Given the description of an element on the screen output the (x, y) to click on. 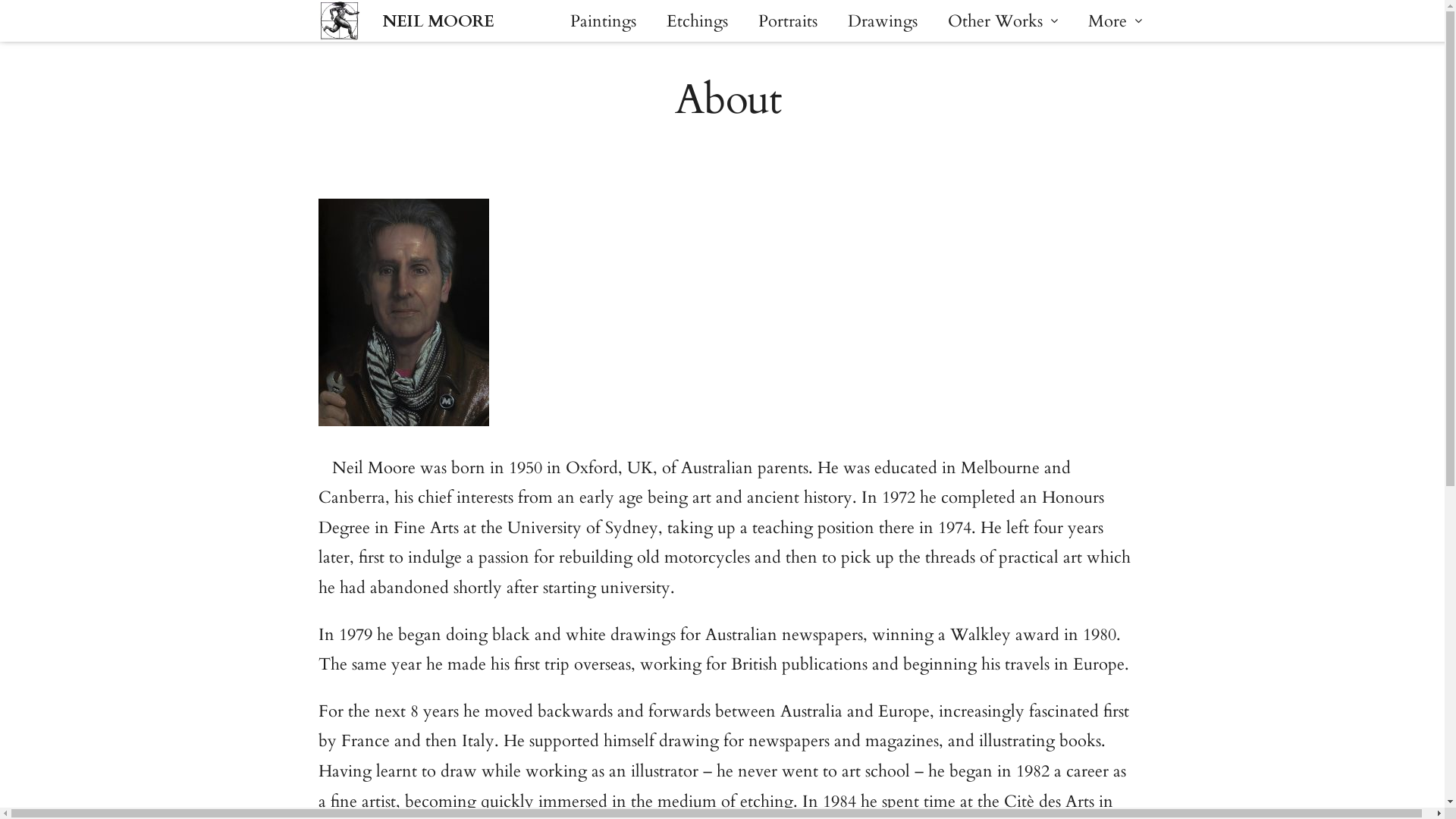
Paintings Element type: text (603, 20)
NEIL MOORE Element type: text (438, 20)
Portraits Element type: text (787, 20)
Etchings Element type: text (697, 20)
Drawings Element type: text (882, 20)
More Element type: text (1115, 20)
Other Works Element type: text (1002, 20)
